Given the description of an element on the screen output the (x, y) to click on. 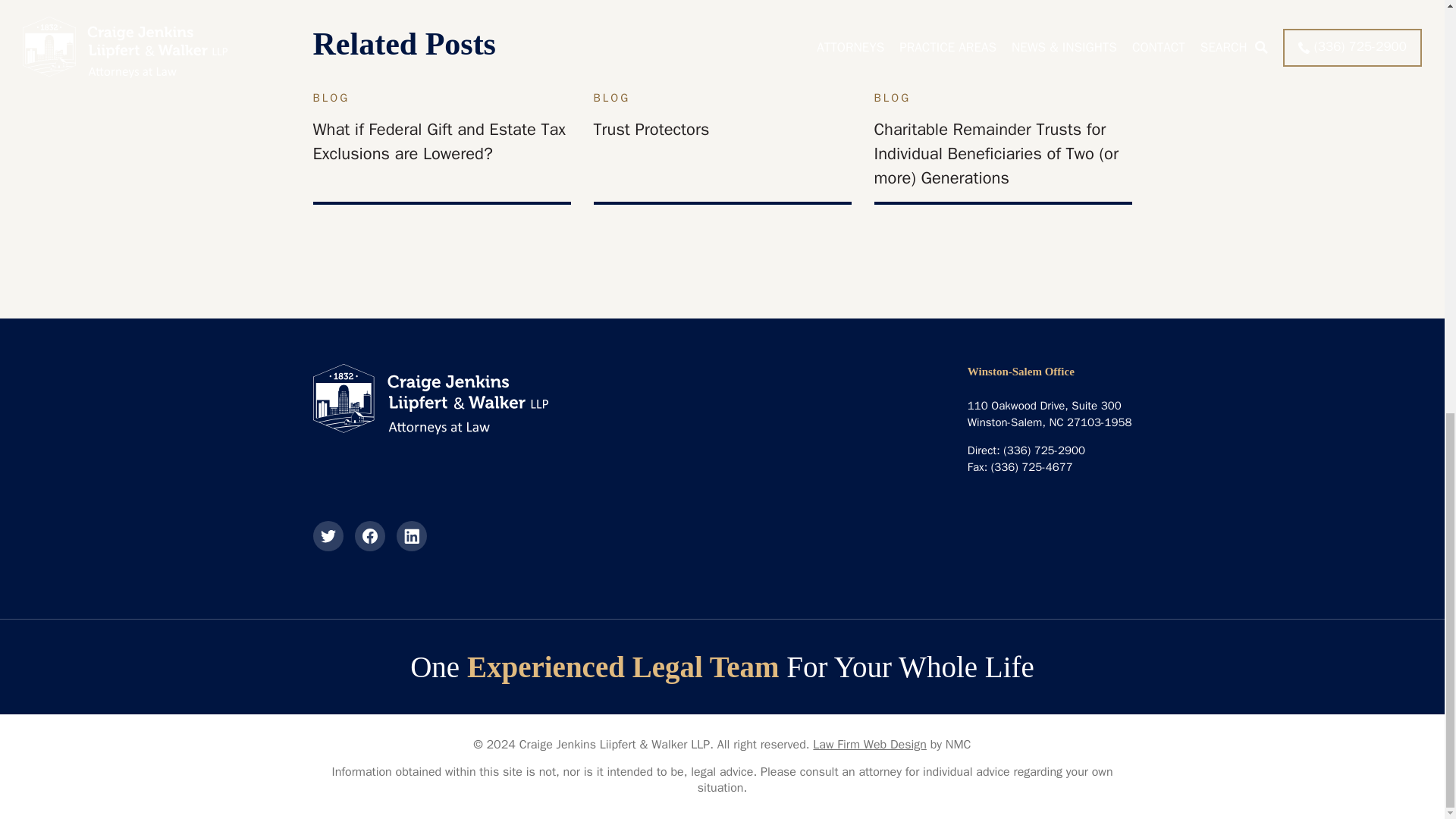
Law Firm Web Design (869, 744)
What if Federal Gift and Estate Tax Exclusions are Lowered? (438, 141)
Trust Protectors (650, 129)
